Given the description of an element on the screen output the (x, y) to click on. 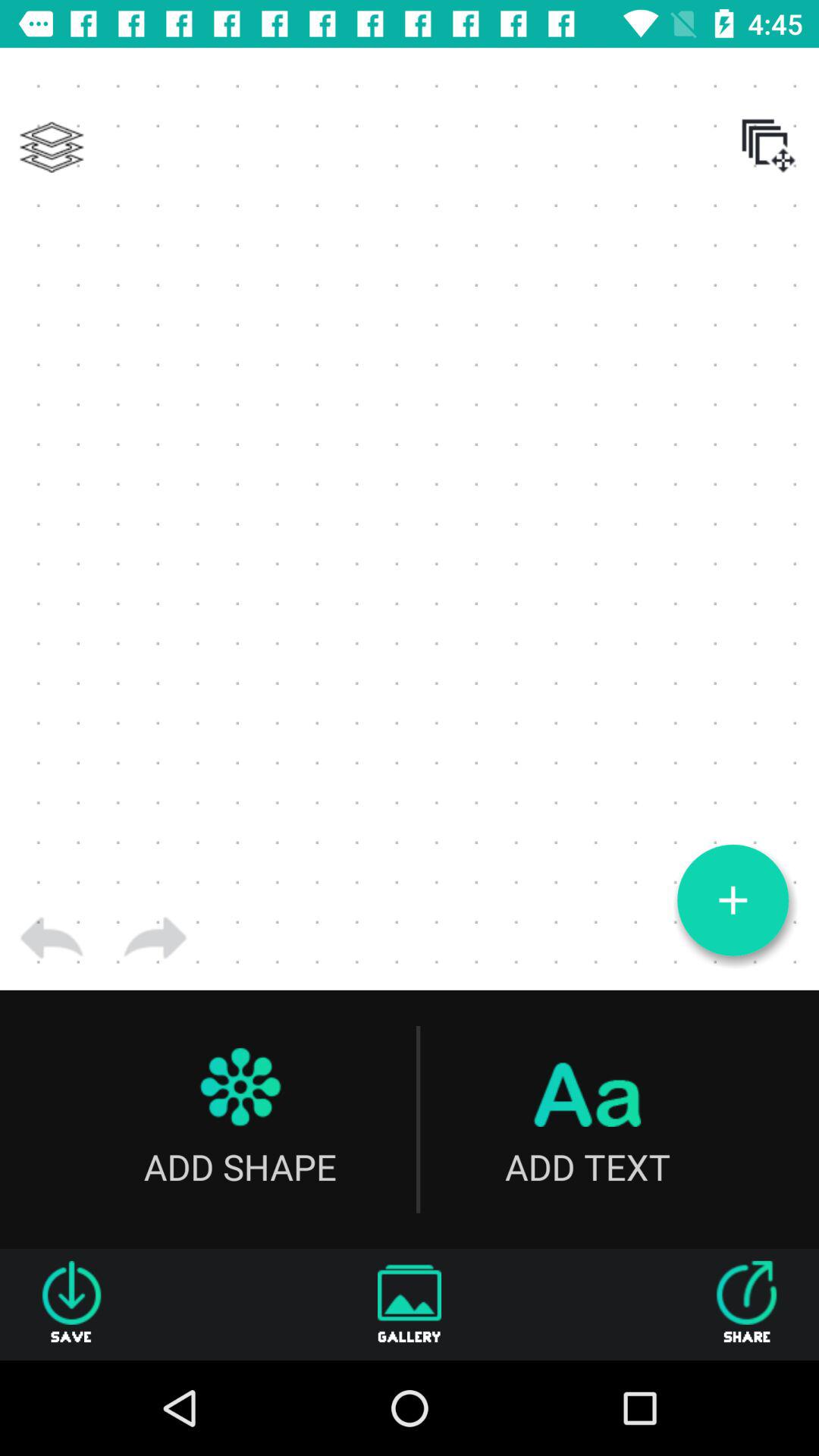
swipe to gallery icon (409, 1304)
